Given the description of an element on the screen output the (x, y) to click on. 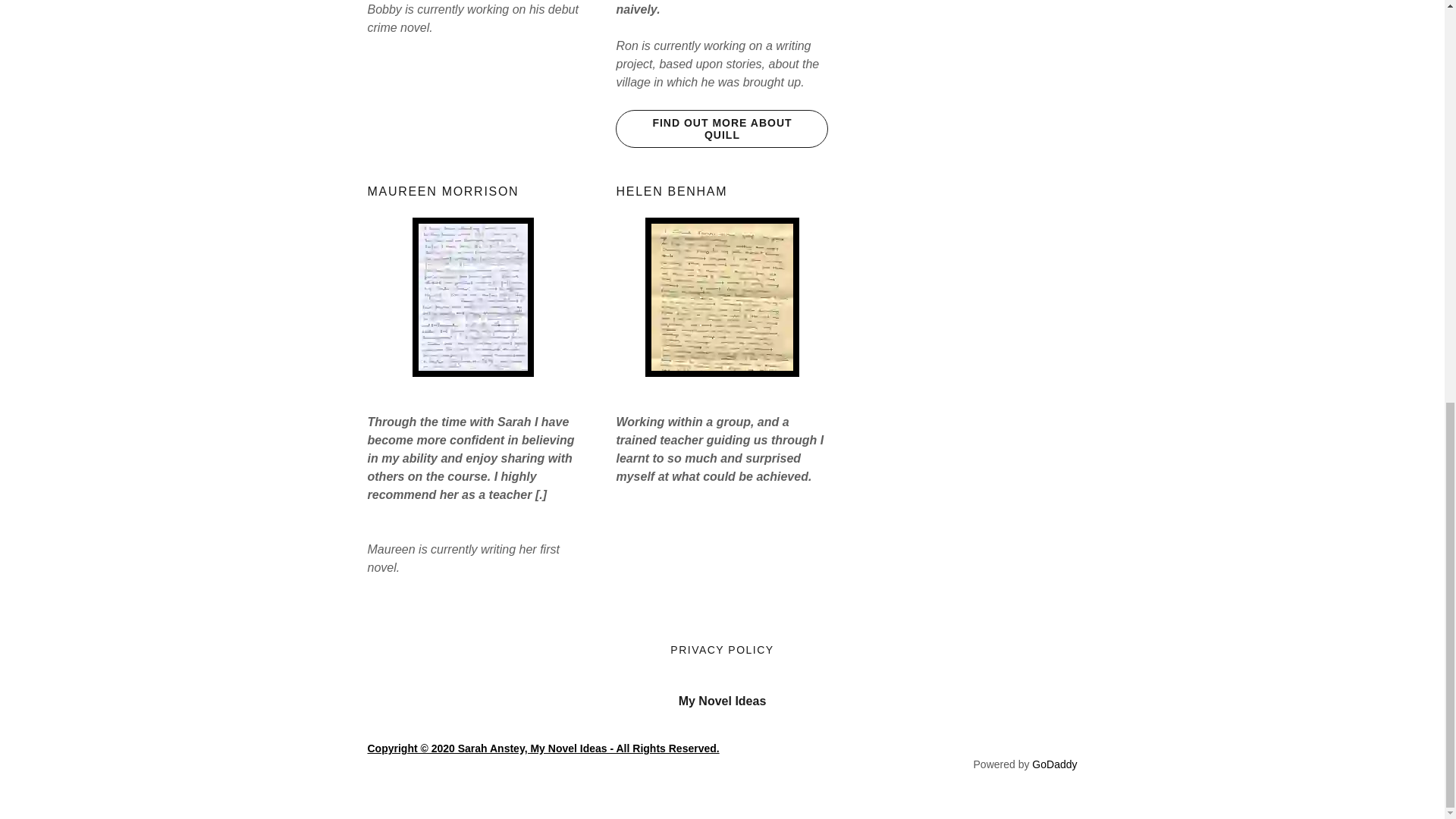
FIND OUT MORE ABOUT QUILL (721, 128)
GoDaddy (1054, 764)
PRIVACY POLICY (720, 649)
